Given the description of an element on the screen output the (x, y) to click on. 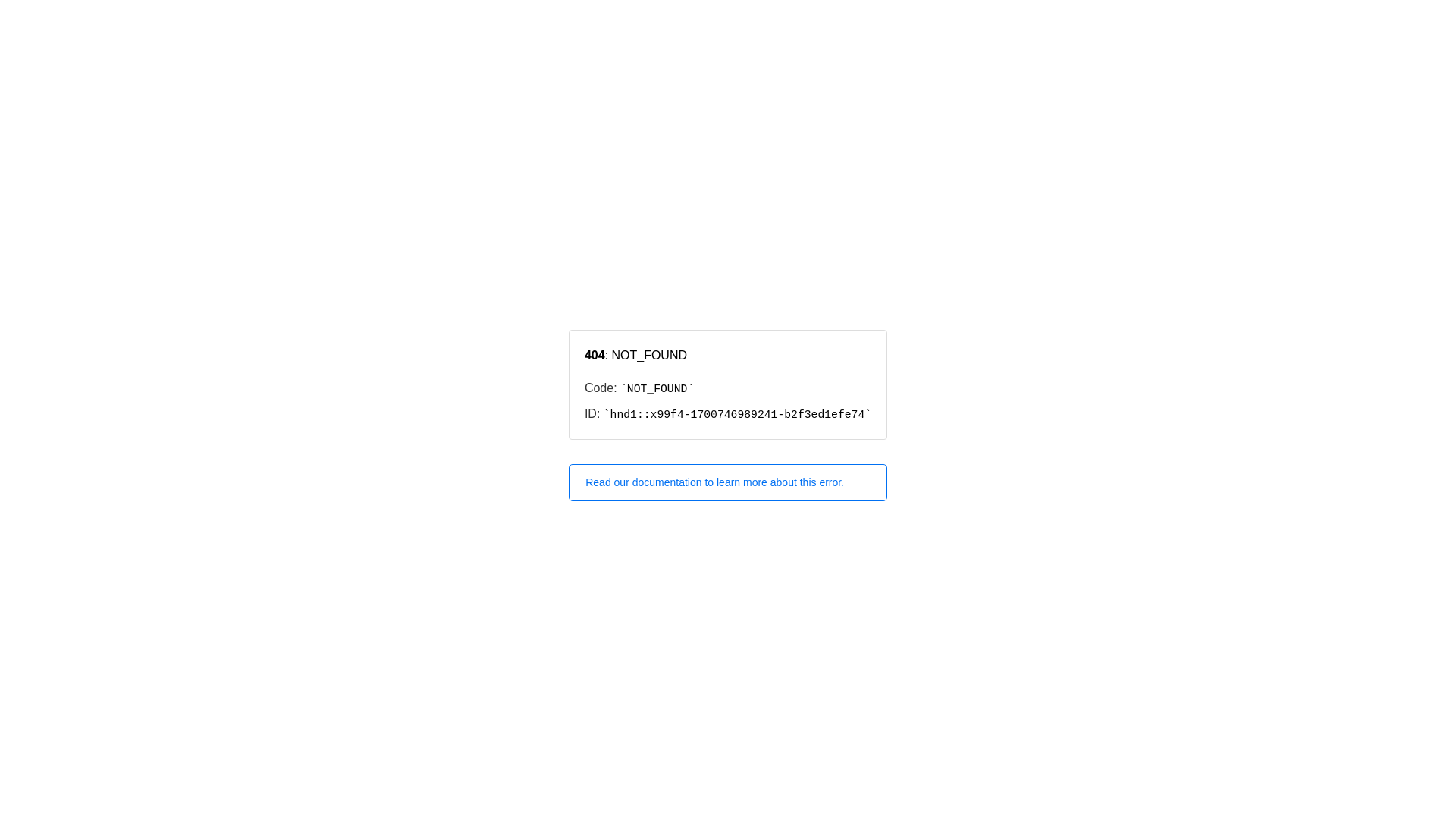
Read our documentation to learn more about this error. Element type: text (727, 482)
